Given the description of an element on the screen output the (x, y) to click on. 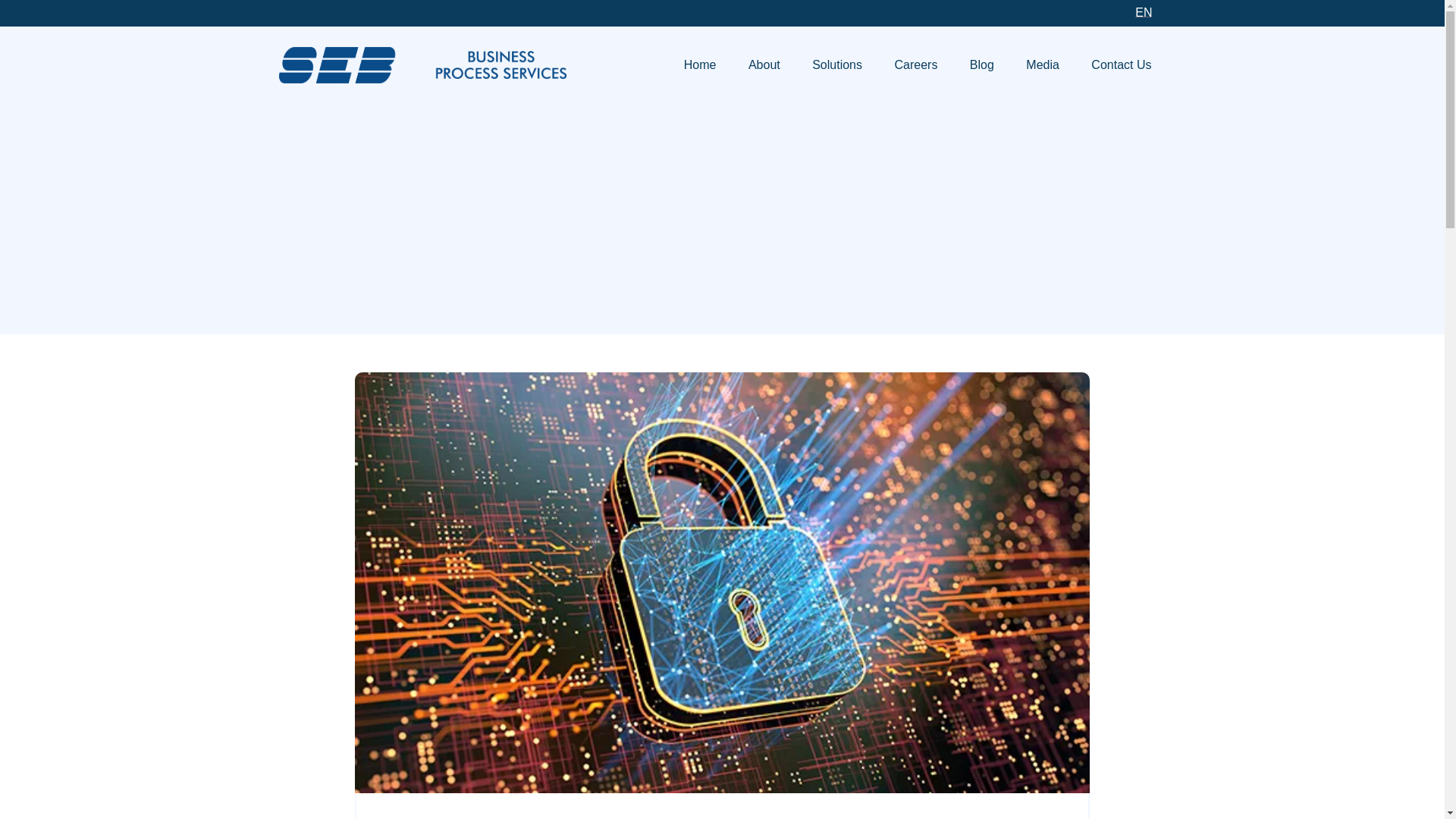
Contact Us (1121, 65)
Search (1145, 322)
Solutions (836, 65)
Careers (915, 65)
EN (1142, 13)
SEB Admin (423, 63)
